Given the description of an element on the screen output the (x, y) to click on. 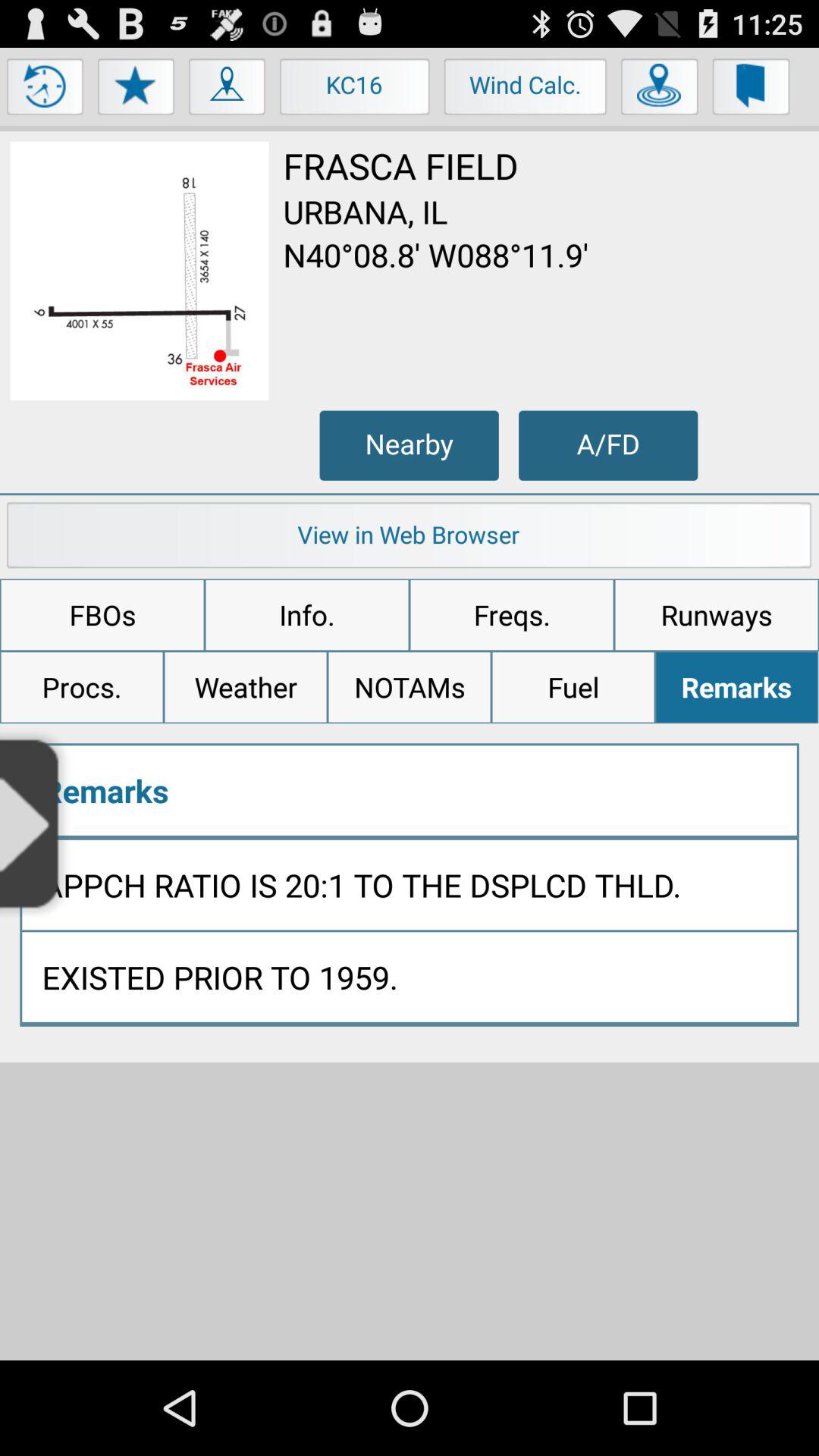
go to clock option (45, 90)
